Given the description of an element on the screen output the (x, y) to click on. 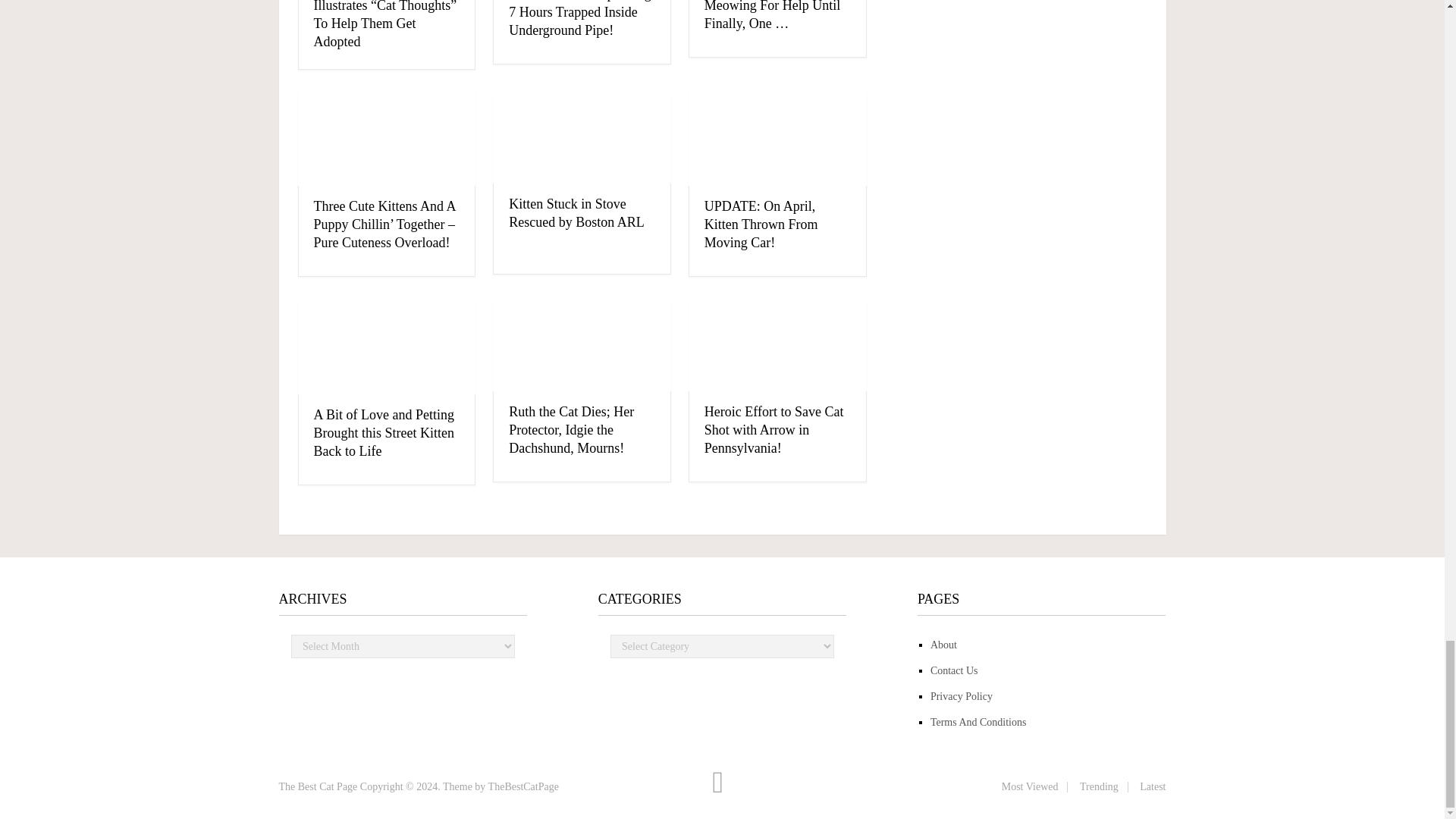
UPDATE: On April, Kitten Thrown From Moving Car! (761, 224)
Kitten Stuck in Stove Rescued by Boston ARL (582, 138)
Kitten Stuck in Stove Rescued by Boston ARL (576, 213)
UPDATE: On April, Kitten Thrown From Moving Car! (777, 138)
Kitten Stuck in Stove Rescued by Boston ARL (576, 213)
